Given the description of an element on the screen output the (x, y) to click on. 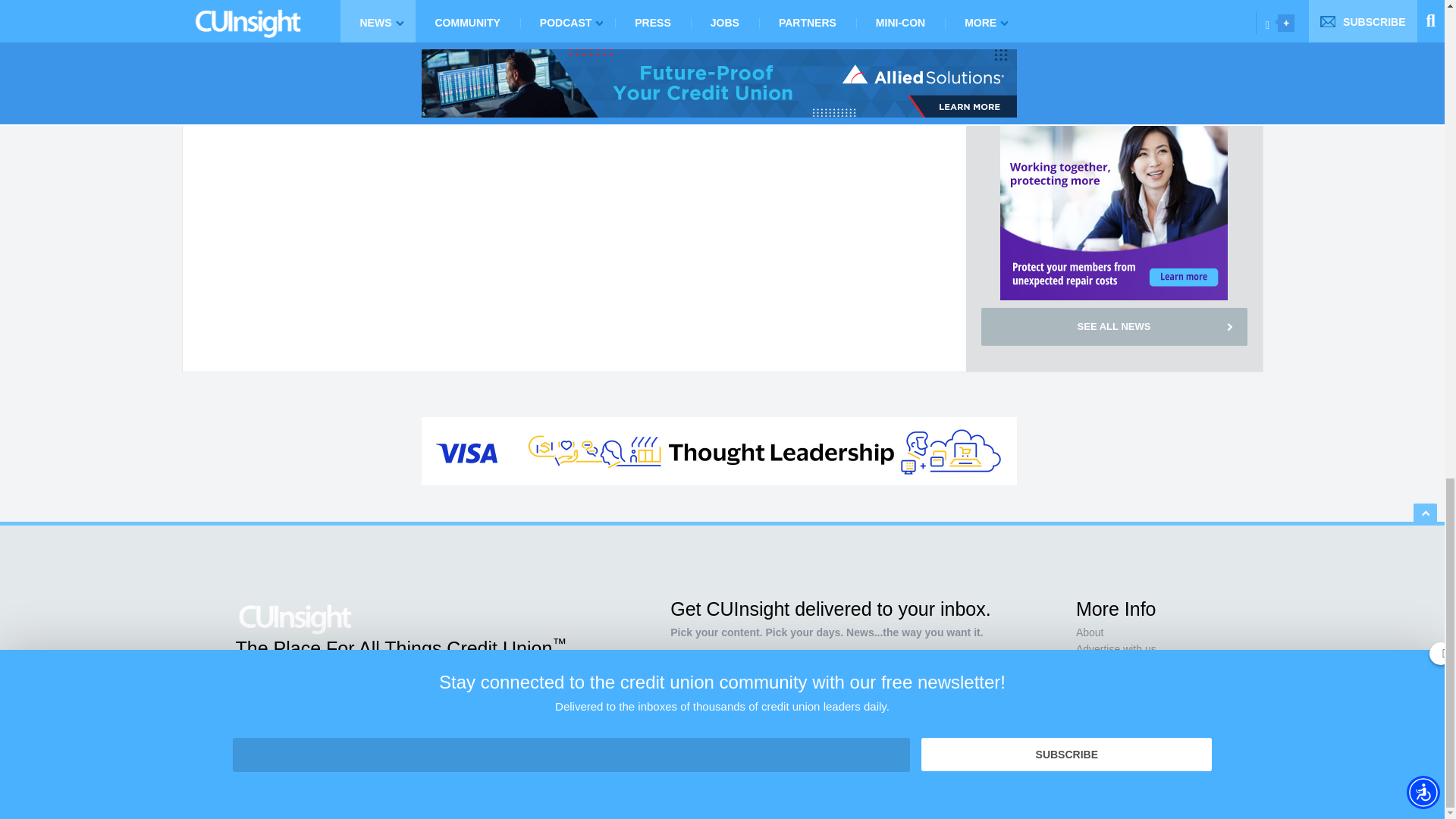
Subscribe (909, 716)
